Given the description of an element on the screen output the (x, y) to click on. 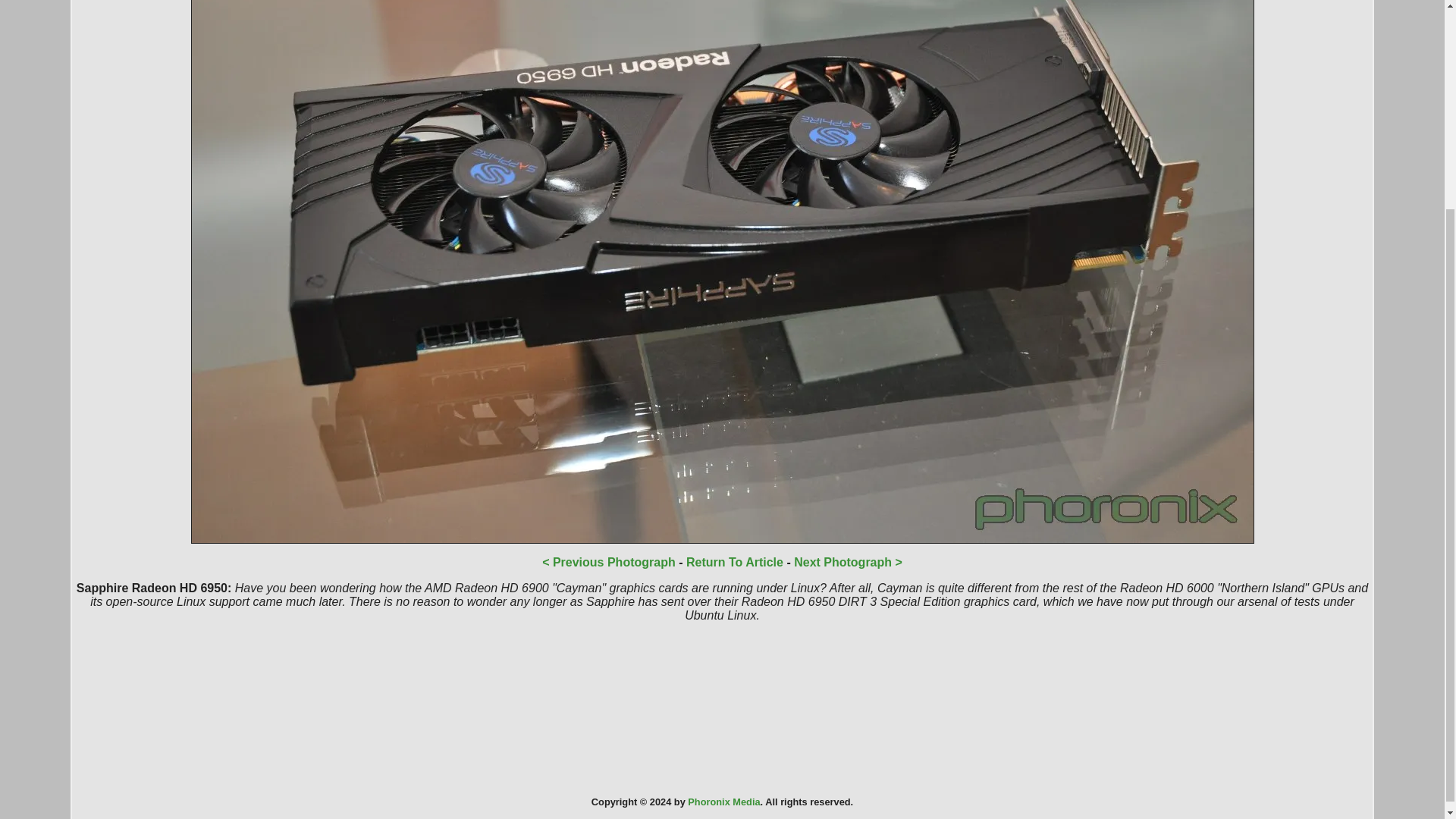
Phoronix Media (723, 801)
Return To Article (734, 562)
